Given the description of an element on the screen output the (x, y) to click on. 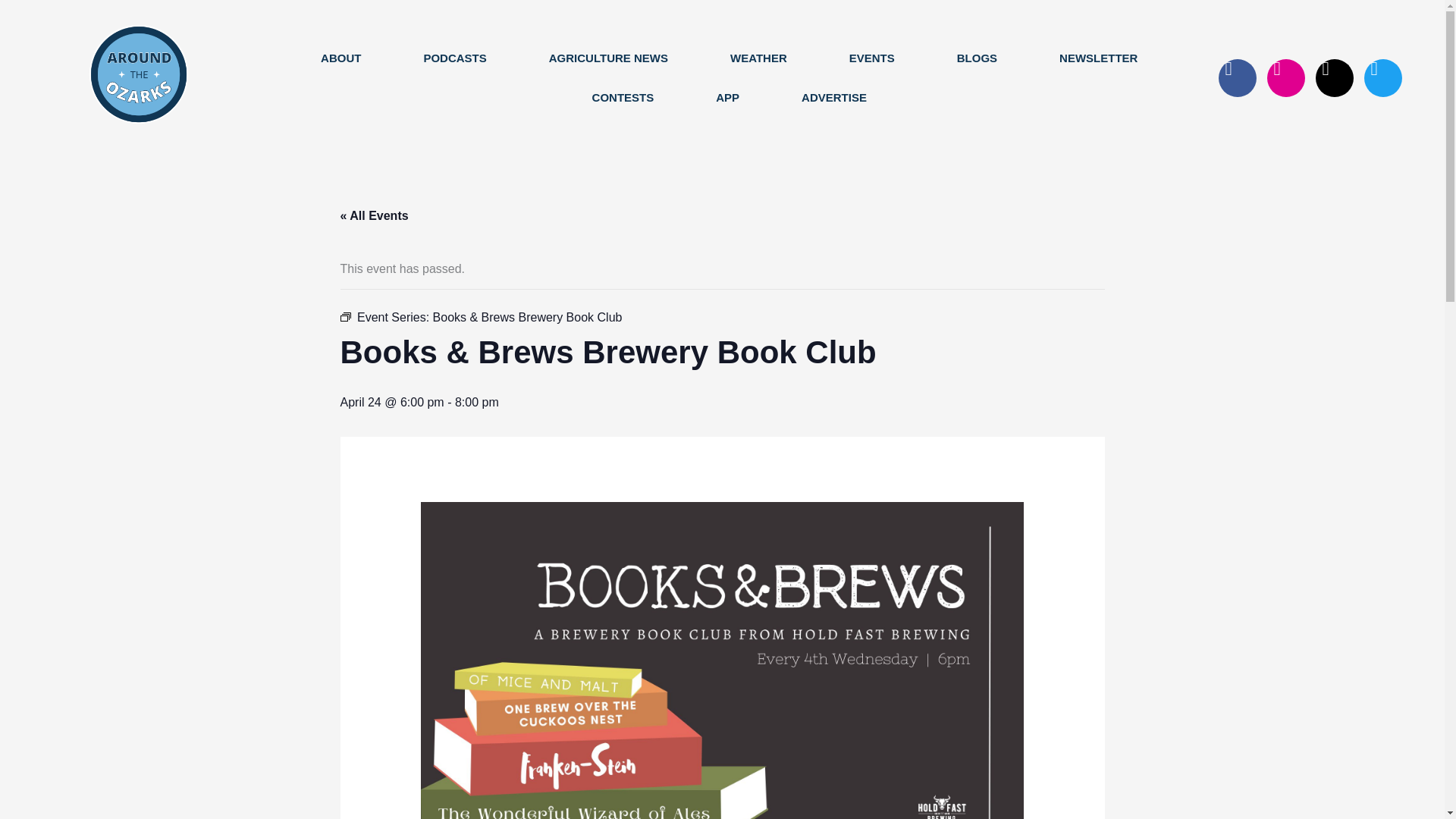
EVENTS (872, 57)
WEATHER (758, 57)
PODCASTS (453, 57)
NEWSLETTER (1098, 57)
ADVERTISE (834, 97)
AGRICULTURE NEWS (608, 57)
Event Series (344, 316)
ABOUT (340, 57)
CONTESTS (622, 97)
BLOGS (976, 57)
